Given the description of an element on the screen output the (x, y) to click on. 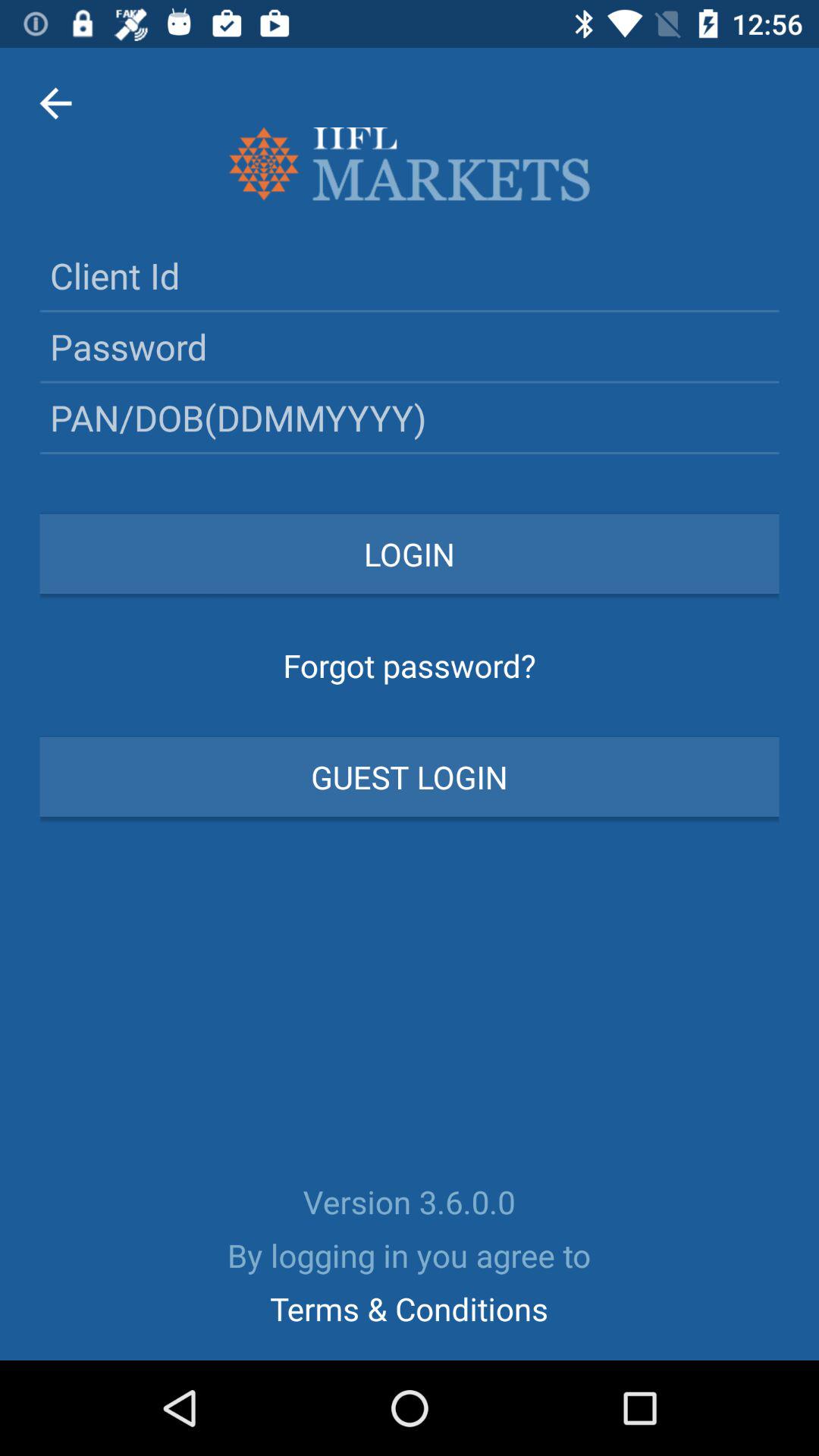
type the client id (409, 275)
